Given the description of an element on the screen output the (x, y) to click on. 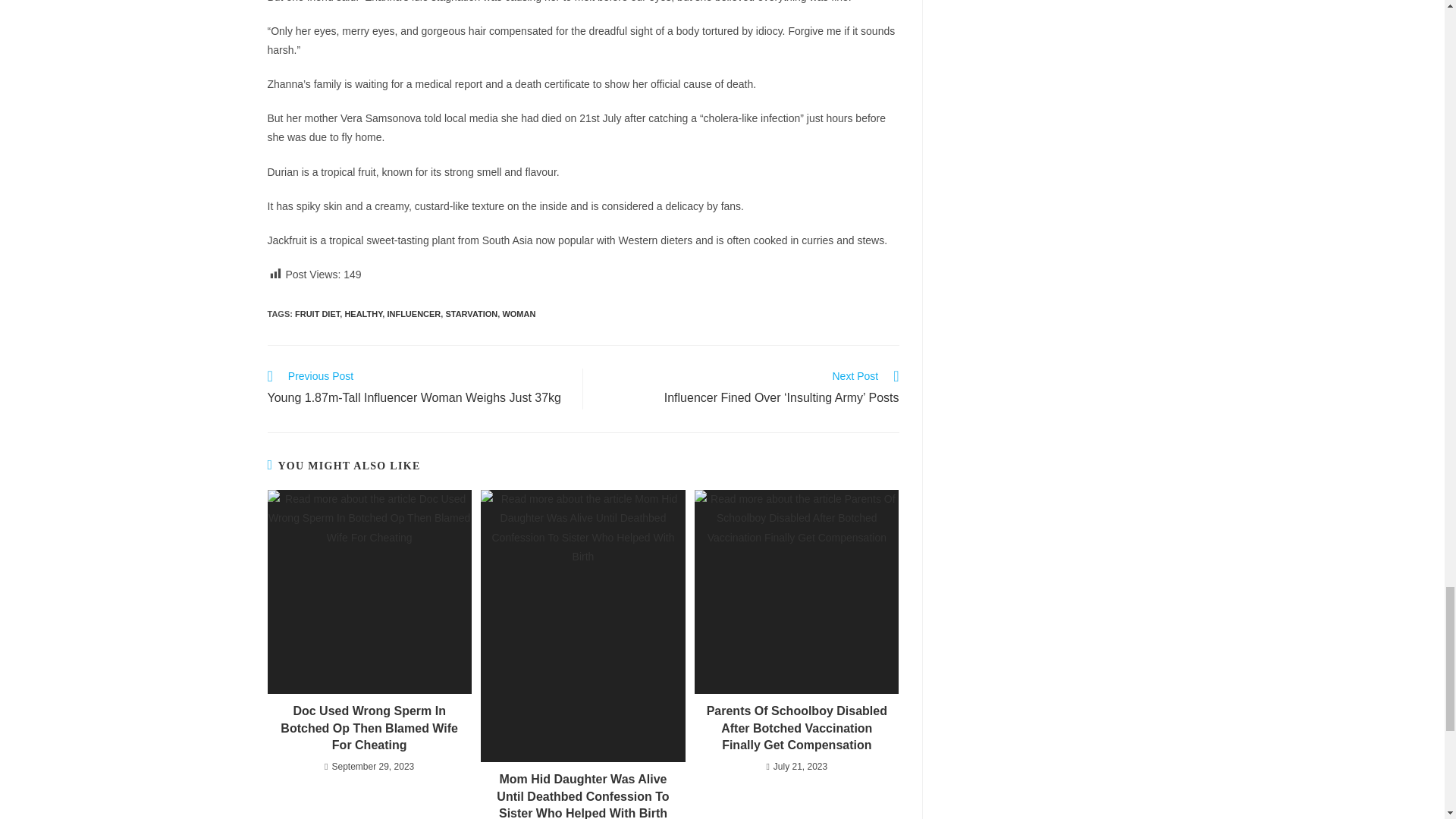
INFLUENCER (414, 313)
FRUIT DIET (317, 313)
HEALTHY (362, 313)
